Given the description of an element on the screen output the (x, y) to click on. 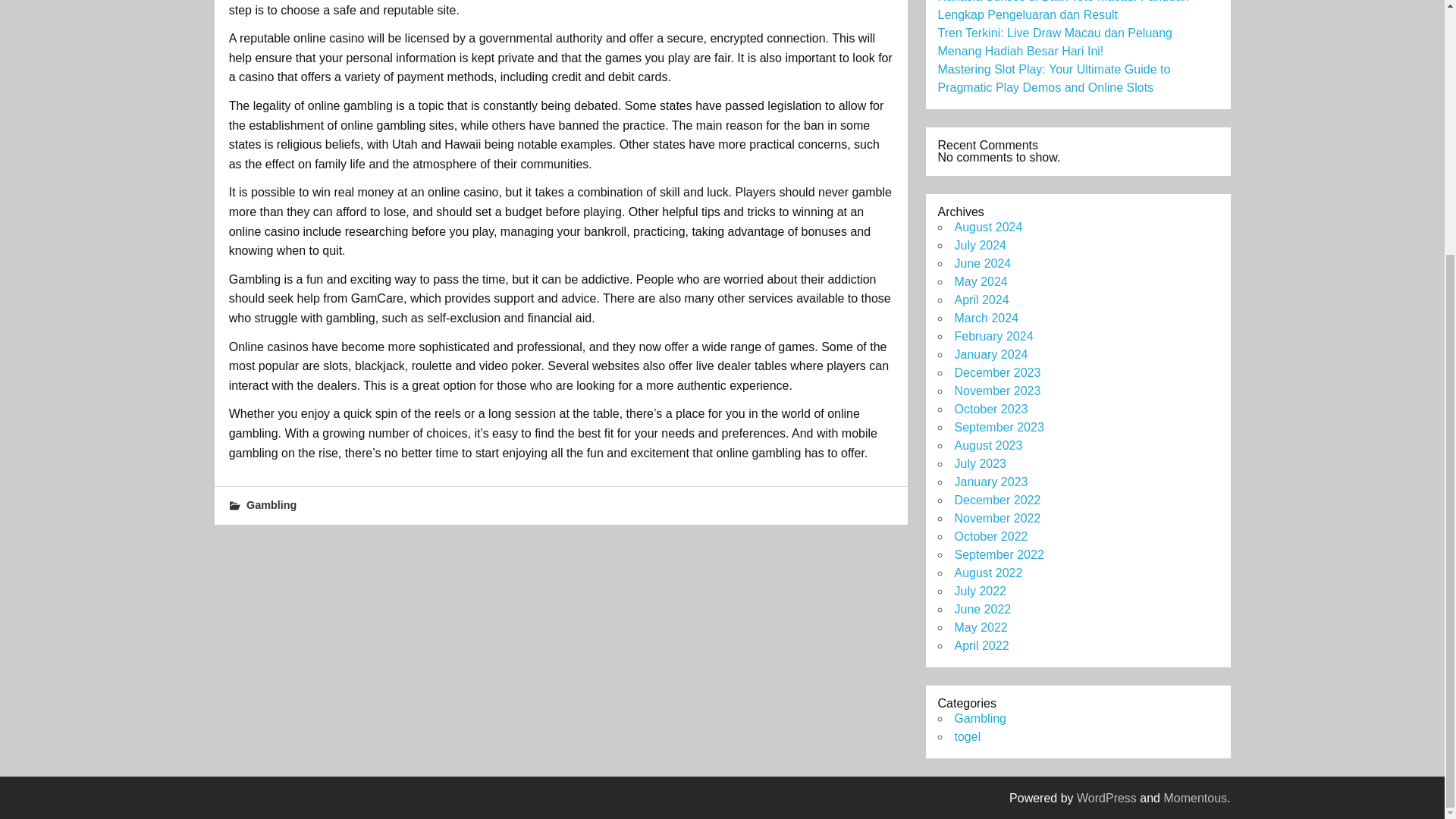
February 2024 (992, 336)
November 2022 (997, 517)
April 2022 (981, 645)
June 2022 (981, 608)
August 2022 (987, 572)
Gambling (979, 717)
Momentous WordPress Theme (1195, 797)
September 2023 (998, 427)
